Given the description of an element on the screen output the (x, y) to click on. 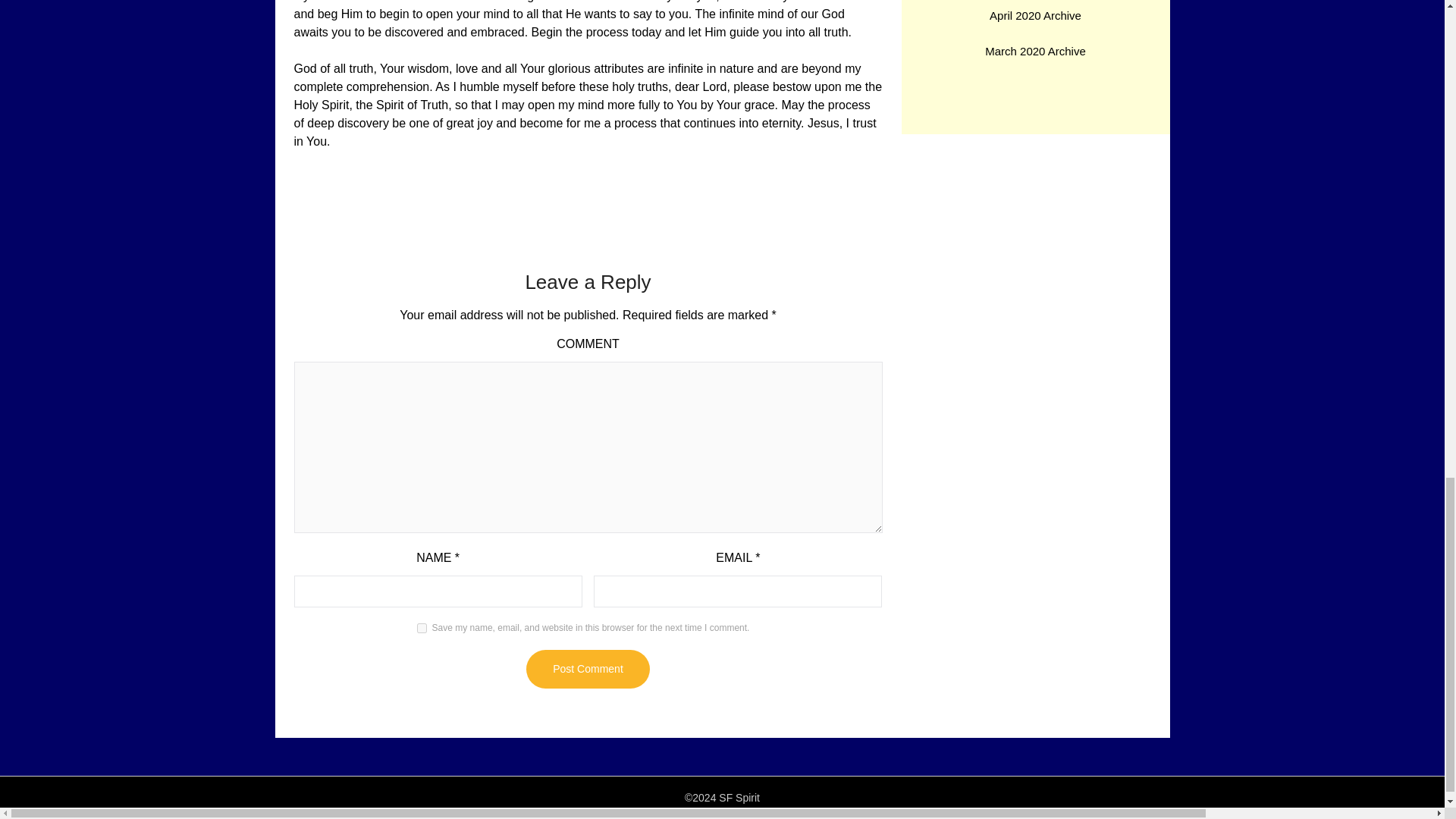
yes (421, 628)
March 2020 Archive (1035, 51)
April 2020 Archive (1035, 15)
Post Comment (587, 669)
Post Comment (587, 669)
